Given the description of an element on the screen output the (x, y) to click on. 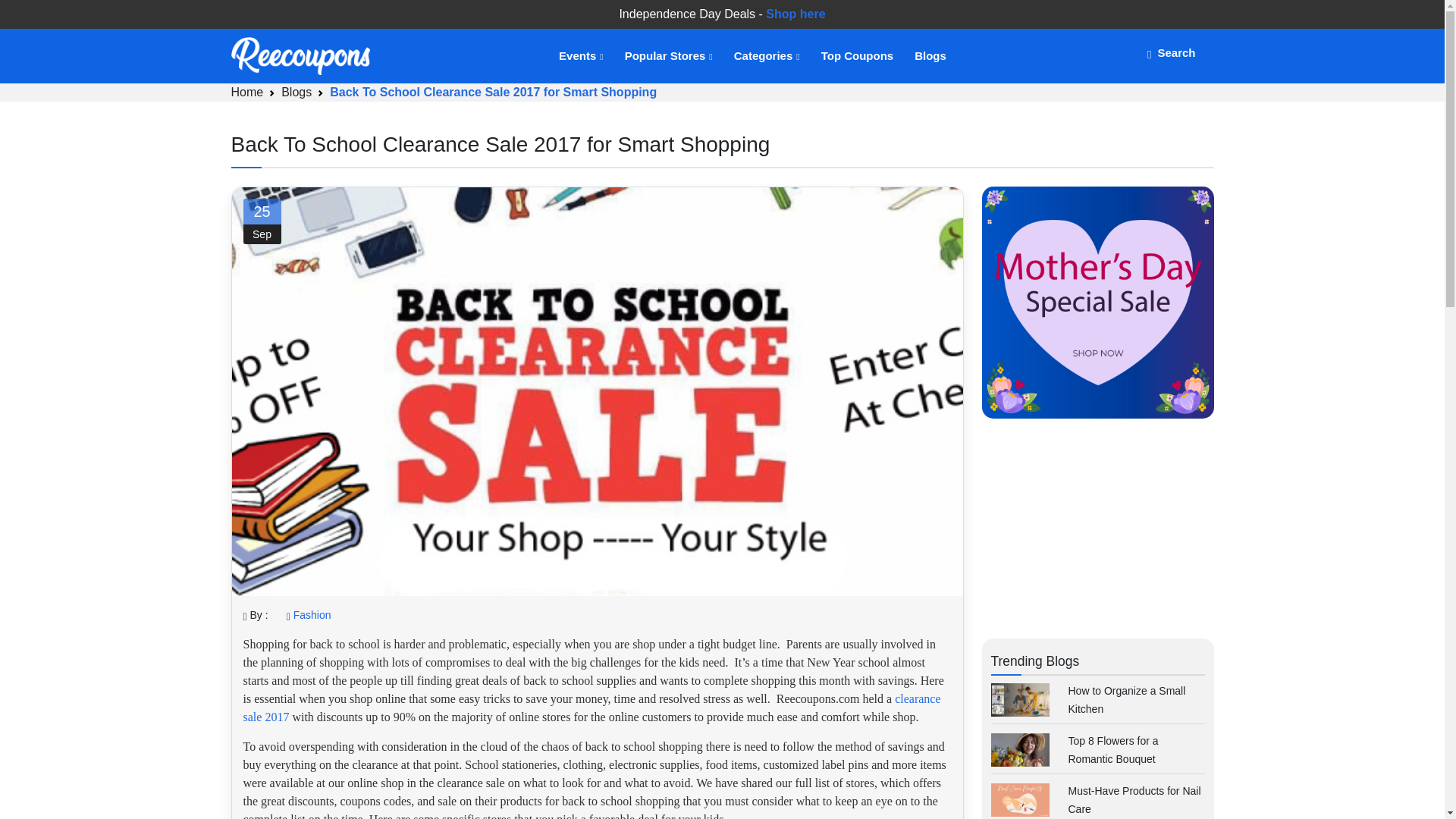
Top Coupons (856, 56)
Categories (765, 56)
Top 8 Flowers for a Romantic Bouquet (1112, 749)
Must-Have Products for Nail Care (1133, 799)
Events (579, 56)
Search (1171, 51)
How to Organize a Small Kitchen (1126, 699)
Blogs (929, 56)
Blogs (296, 91)
Home (246, 91)
Advertisement (1096, 535)
clearance sale 2017 (591, 707)
Popular Stores (667, 56)
Fashion (312, 614)
